Given the description of an element on the screen output the (x, y) to click on. 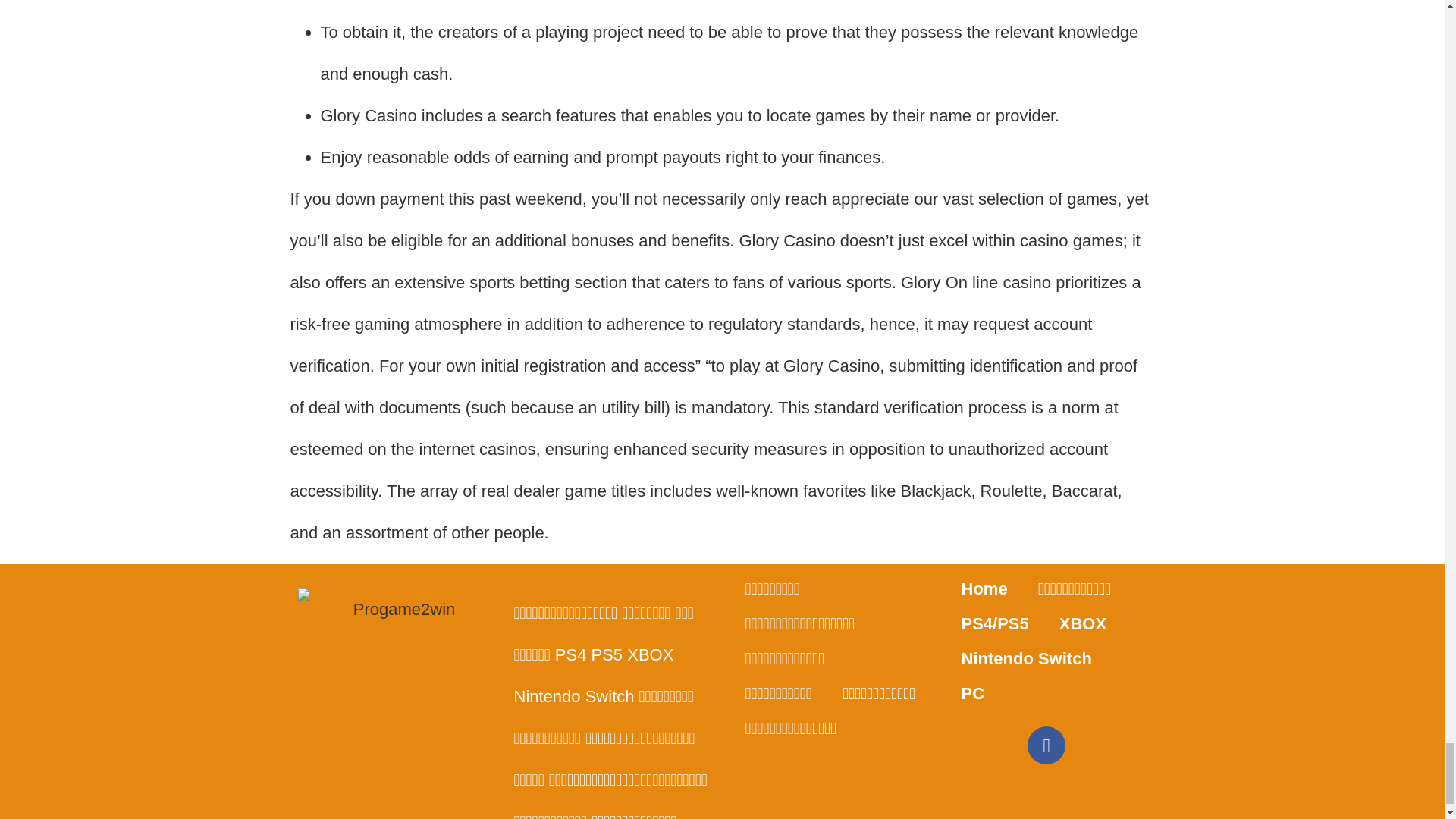
Nintendo Switch (1026, 658)
PC (973, 693)
Home (984, 588)
XBOX (1082, 623)
